Given the description of an element on the screen output the (x, y) to click on. 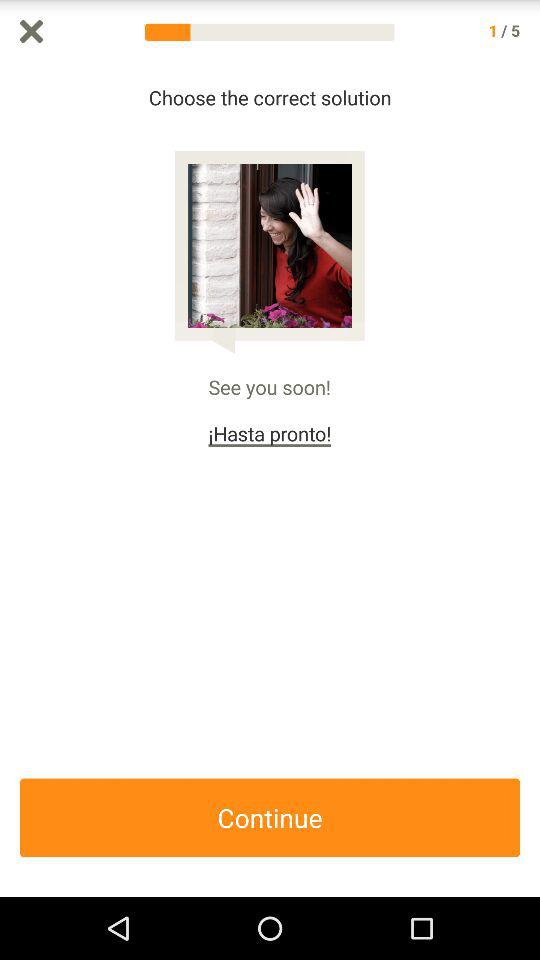
scroll until the continue icon (269, 817)
